Given the description of an element on the screen output the (x, y) to click on. 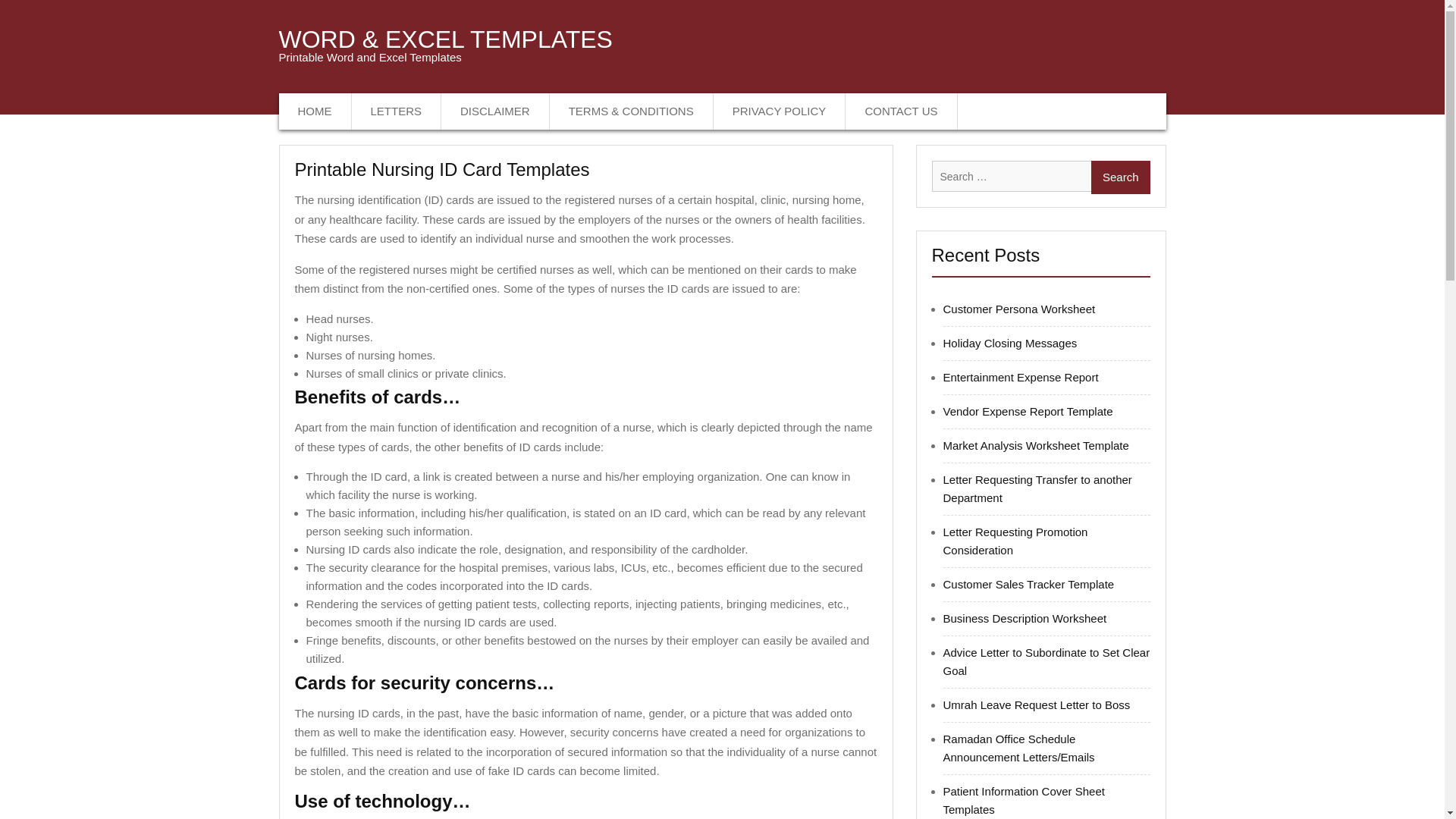
Vendor Expense Report Template (1028, 410)
Customer Persona Worksheet (1019, 308)
Entertainment Expense Report (1021, 377)
Search (1120, 177)
Advice Letter to Subordinate to Set Clear Goal (1046, 661)
Market Analysis Worksheet Template (1036, 445)
Search (1120, 177)
PRIVACY POLICY (779, 111)
DISCLAIMER (495, 111)
Customer Sales Tracker Template (1029, 584)
Holiday Closing Messages (1010, 342)
CONTACT US (900, 111)
LETTERS (397, 111)
HOME (315, 111)
Search (1120, 177)
